Given the description of an element on the screen output the (x, y) to click on. 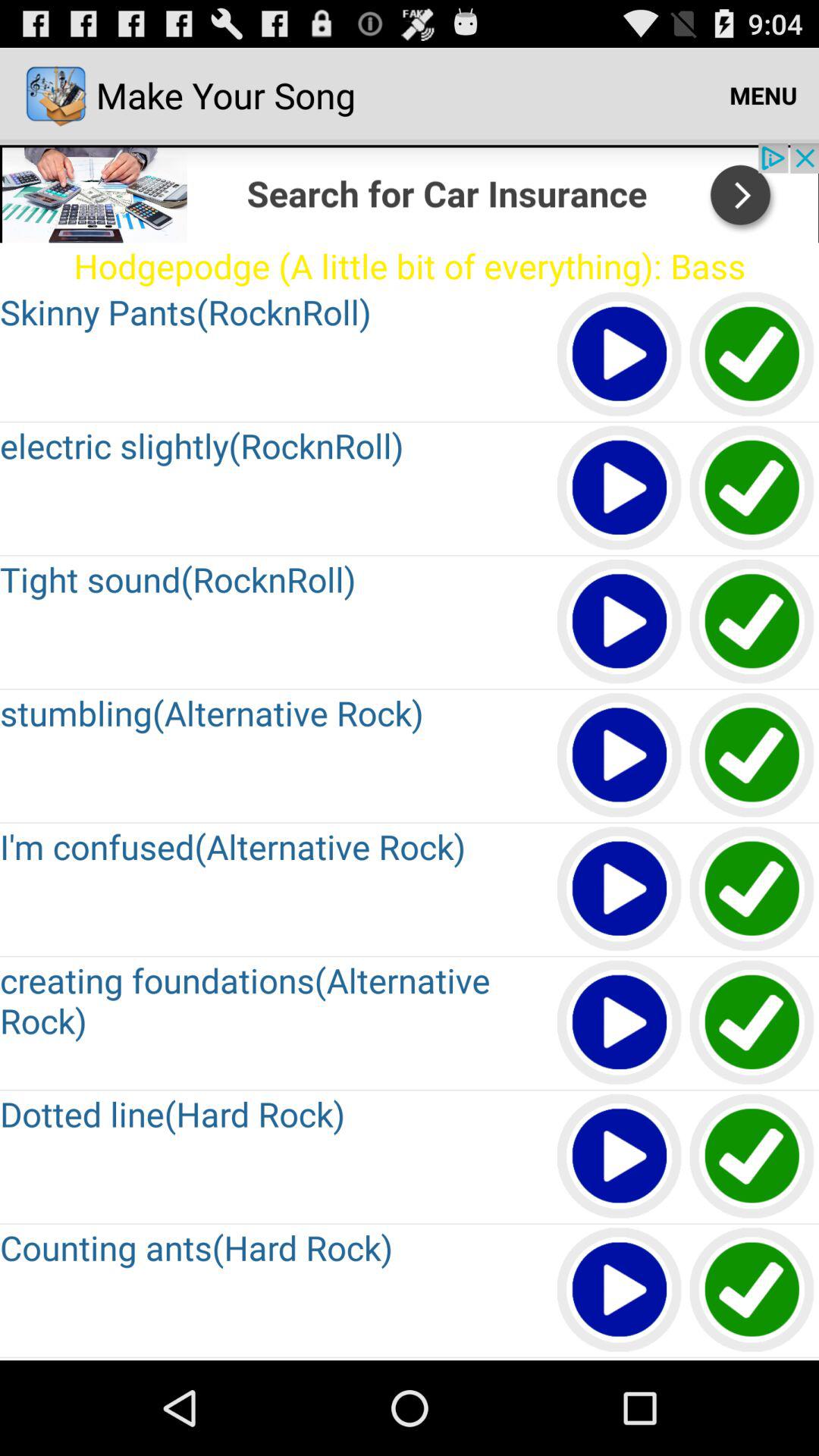
play song (619, 488)
